Given the description of an element on the screen output the (x, y) to click on. 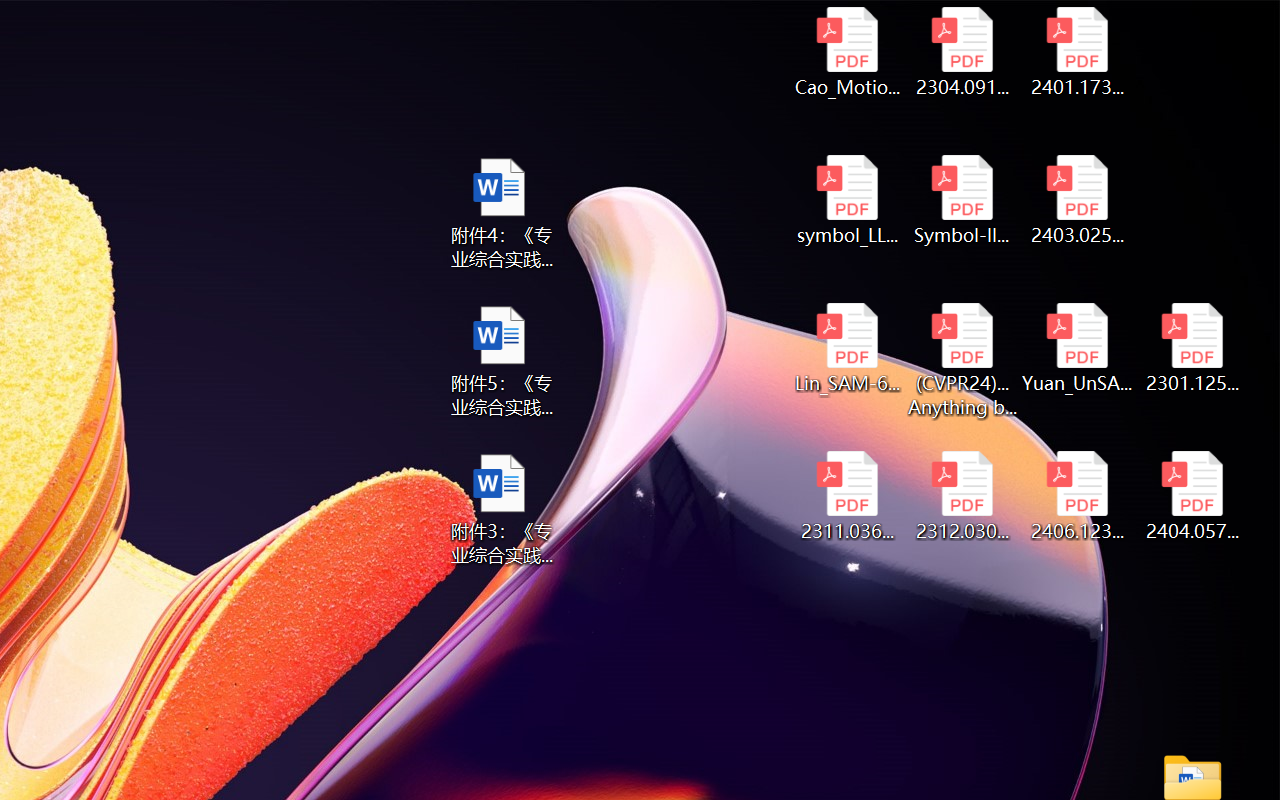
2401.17399v1.pdf (1077, 52)
2406.12373v2.pdf (1077, 496)
Symbol-llm-v2.pdf (962, 200)
symbol_LLM.pdf (846, 200)
2312.03032v2.pdf (962, 496)
2301.12597v3.pdf (1192, 348)
(CVPR24)Matching Anything by Segmenting Anything.pdf (962, 360)
2404.05719v1.pdf (1192, 496)
2304.09121v3.pdf (962, 52)
2311.03658v2.pdf (846, 496)
